Given the description of an element on the screen output the (x, y) to click on. 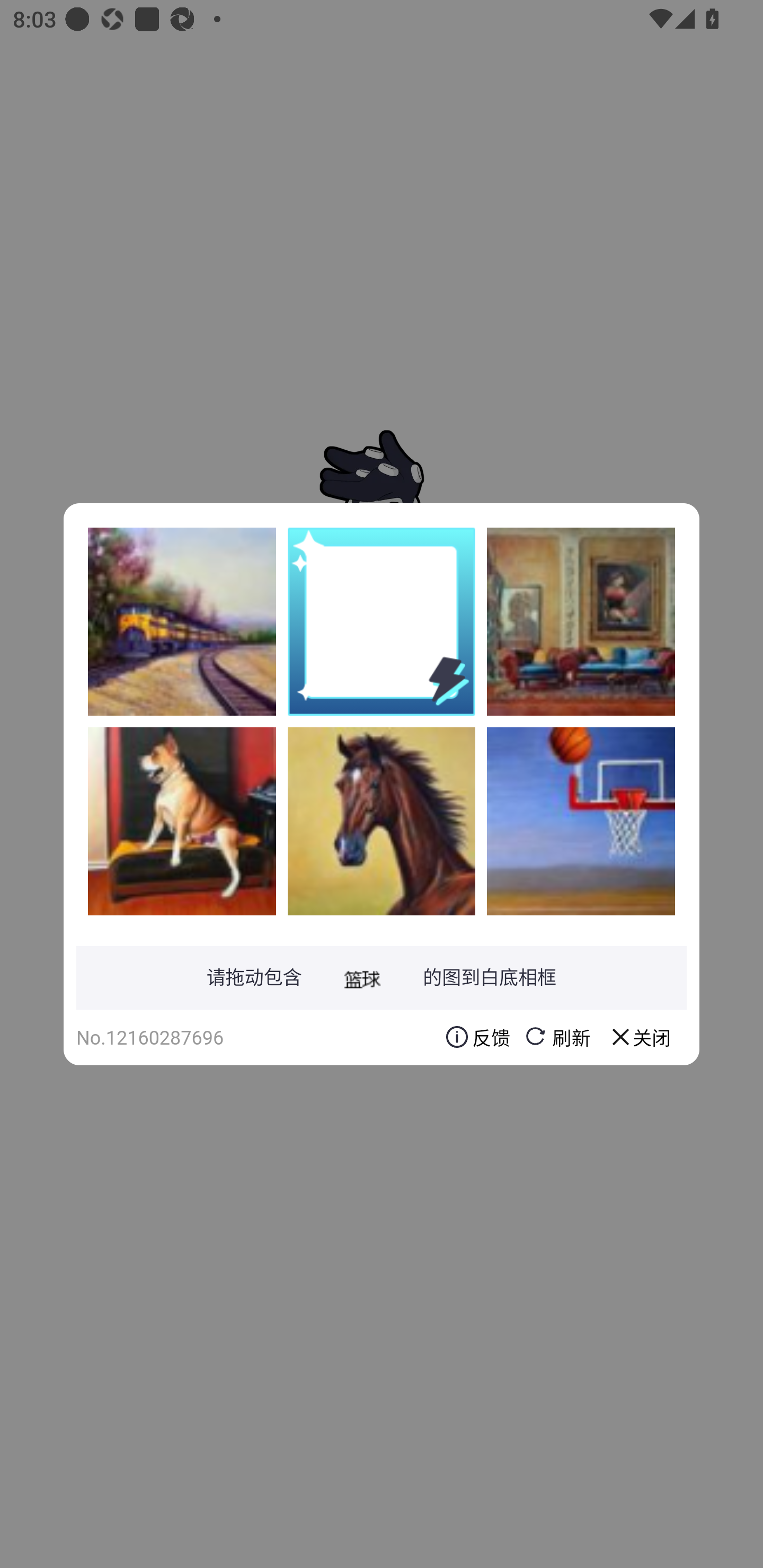
Kjw6 (181, 621)
I4Afr6D0xSk8eX (181, 820)
iqXOBKkJYGFjDVpwpNrGFhZE (381, 820)
